Given the description of an element on the screen output the (x, y) to click on. 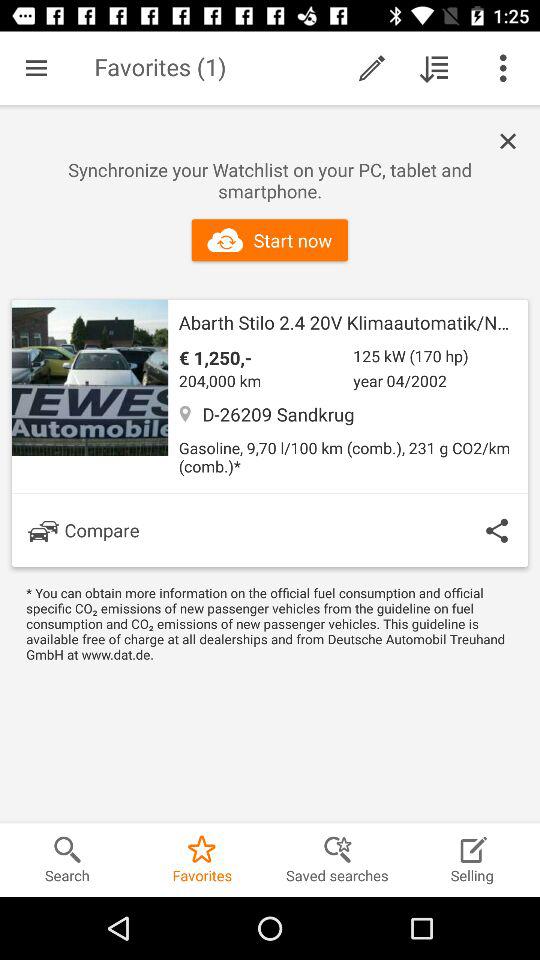
hide advertisement (513, 141)
